Given the description of an element on the screen output the (x, y) to click on. 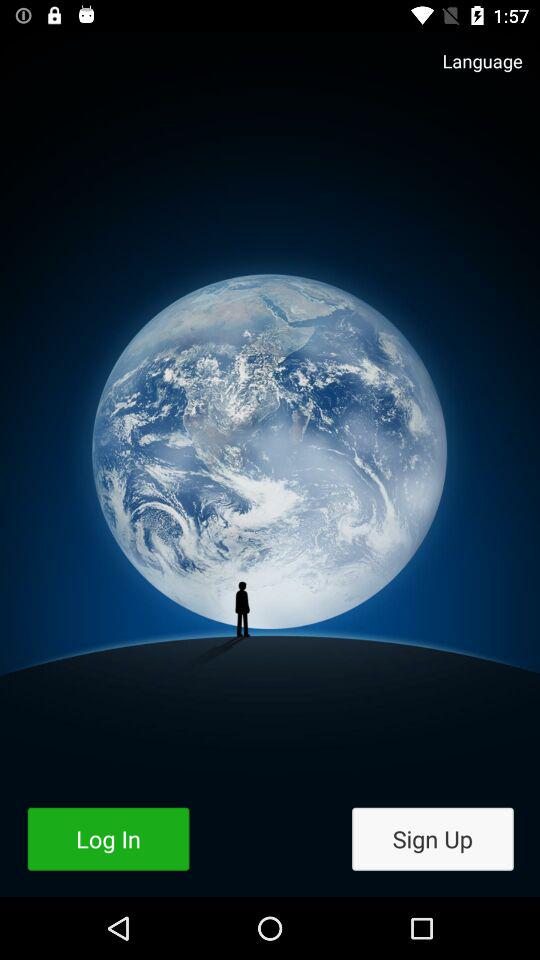
open the button above sign up icon (472, 70)
